Given the description of an element on the screen output the (x, y) to click on. 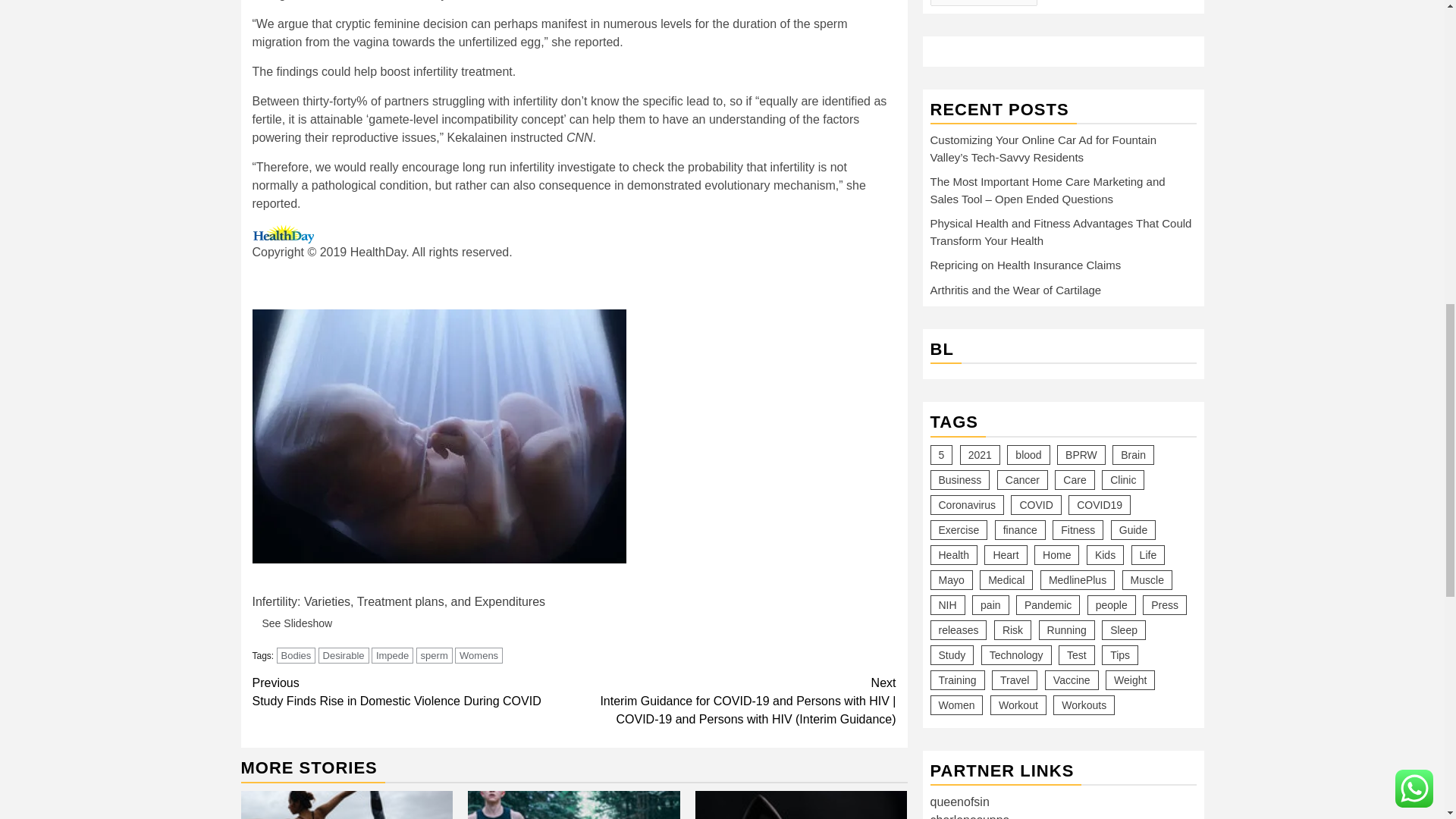
sperm (434, 655)
Desirable (343, 655)
Relation Between Solitude, Loneliness and Meditation (801, 805)
Easy Meditation Techniques (573, 805)
SLIDESHOW (284, 583)
Womens (478, 655)
Impede (412, 692)
Bodies (392, 655)
